Given the description of an element on the screen output the (x, y) to click on. 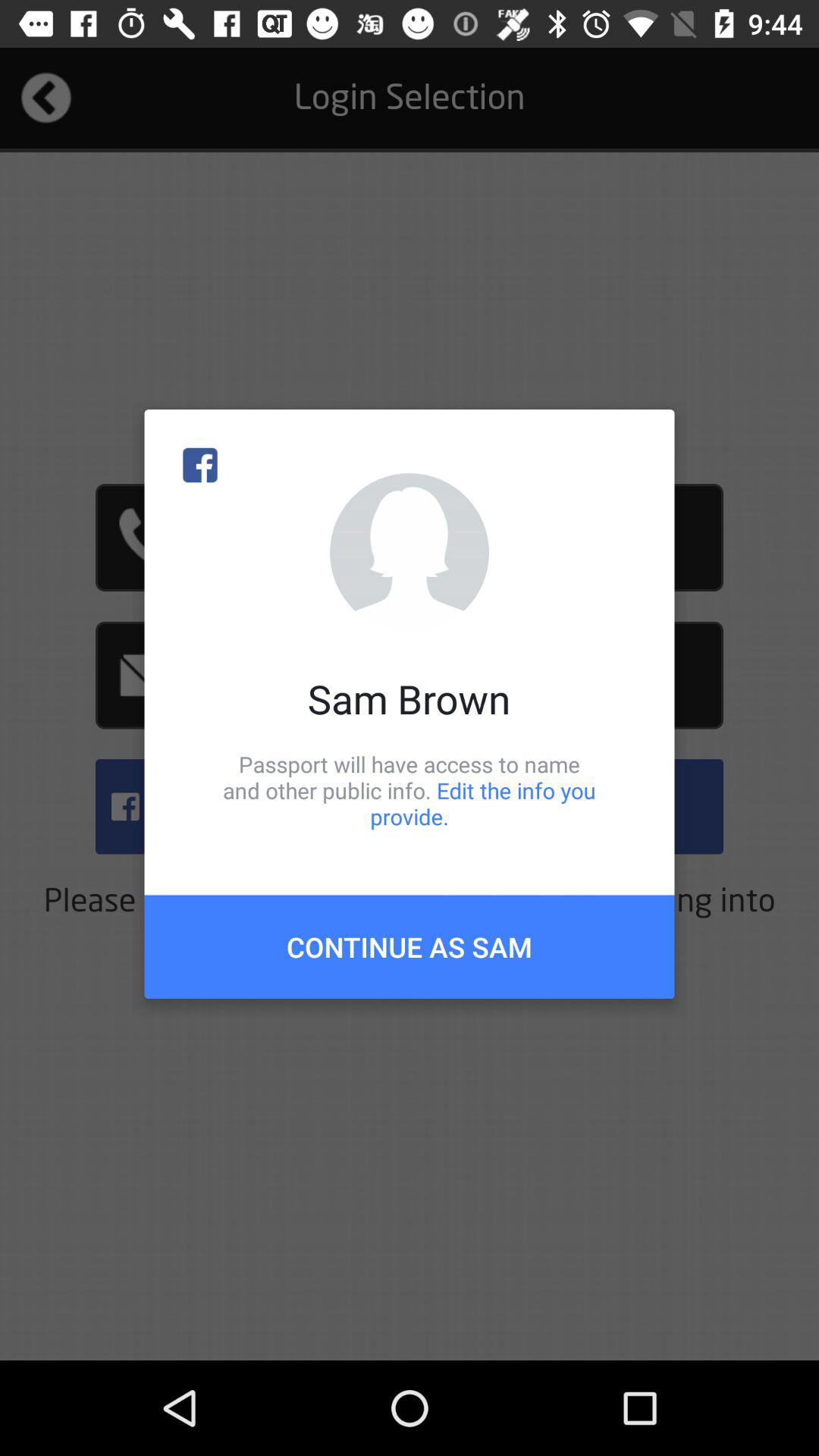
turn on the passport will have item (409, 790)
